Given the description of an element on the screen output the (x, y) to click on. 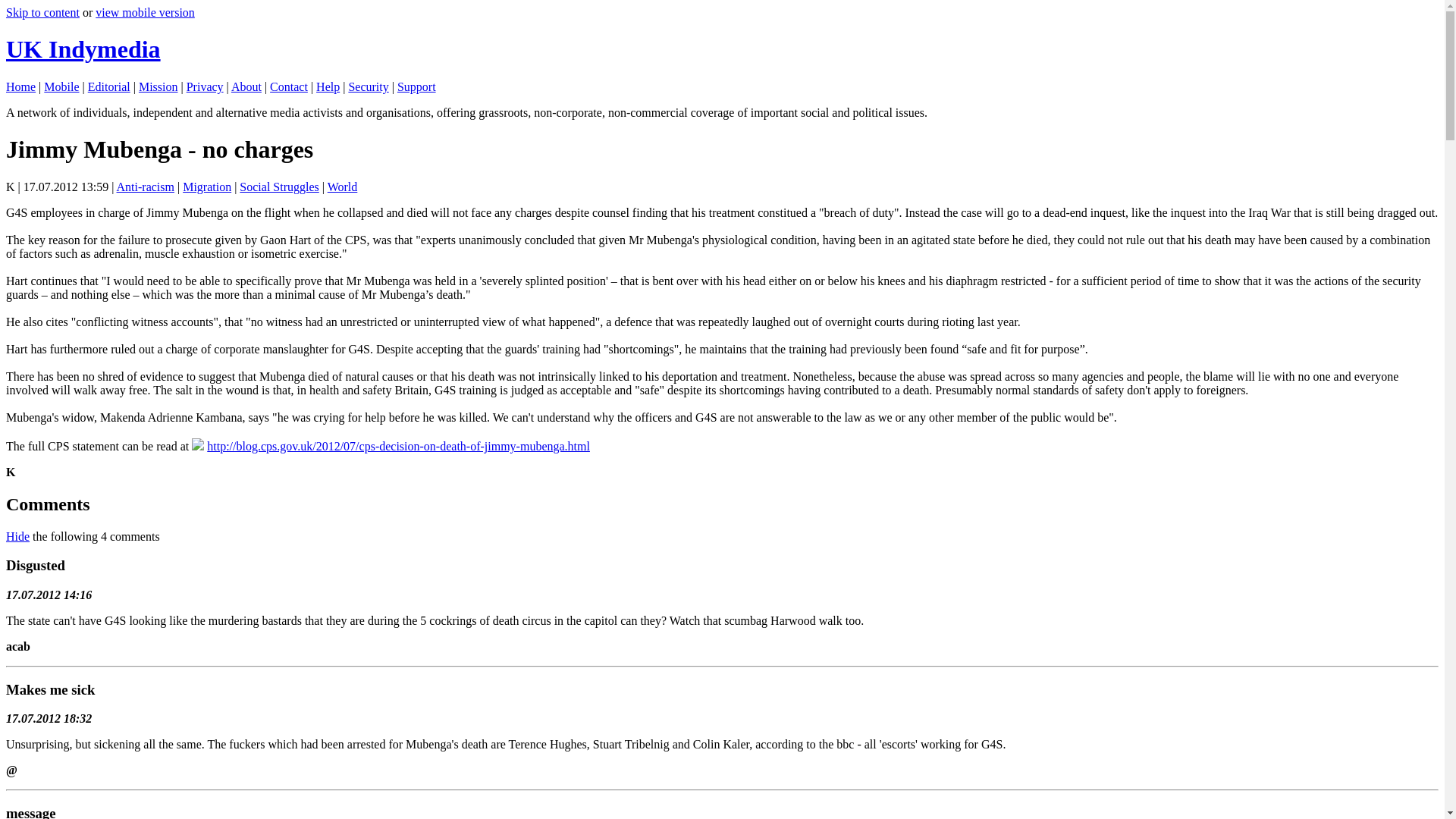
Disgusted (35, 565)
Hide (17, 535)
Skip to content (42, 11)
Help (327, 86)
Migration (207, 186)
Editorial (109, 86)
Support (416, 86)
Mobile (60, 86)
Privacy (205, 86)
message (30, 812)
About (246, 86)
Social Struggles (279, 186)
view mobile version (145, 11)
Security (367, 86)
Comments (47, 504)
